Given the description of an element on the screen output the (x, y) to click on. 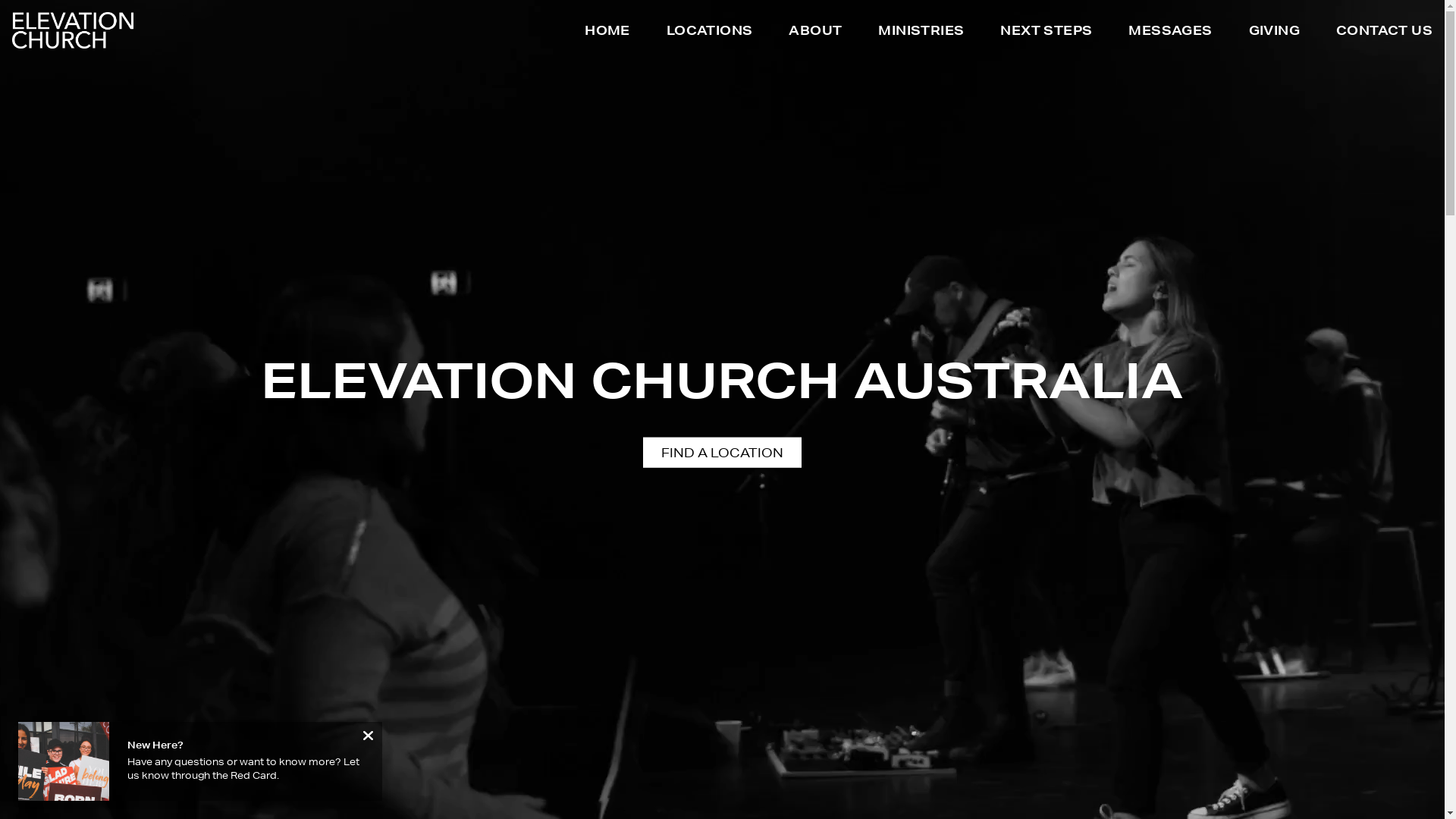
ABOUT Element type: text (814, 33)
HOME Element type: text (607, 33)
MINISTRIES Element type: text (920, 33)
LOCATIONS Element type: text (709, 33)
CONTACT US Element type: text (1384, 33)
GIVING Element type: text (1273, 33)
FIND A LOCATION Element type: text (722, 451)
NEXT STEPS Element type: text (1046, 33)
MESSAGES Element type: text (1169, 33)
